Given the description of an element on the screen output the (x, y) to click on. 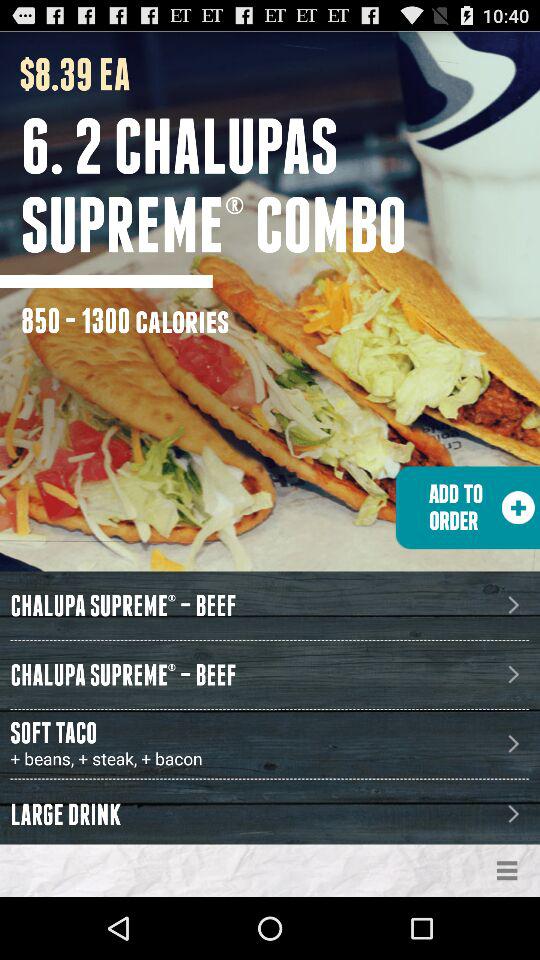
press item below $8.39 ea icon (280, 185)
